Given the description of an element on the screen output the (x, y) to click on. 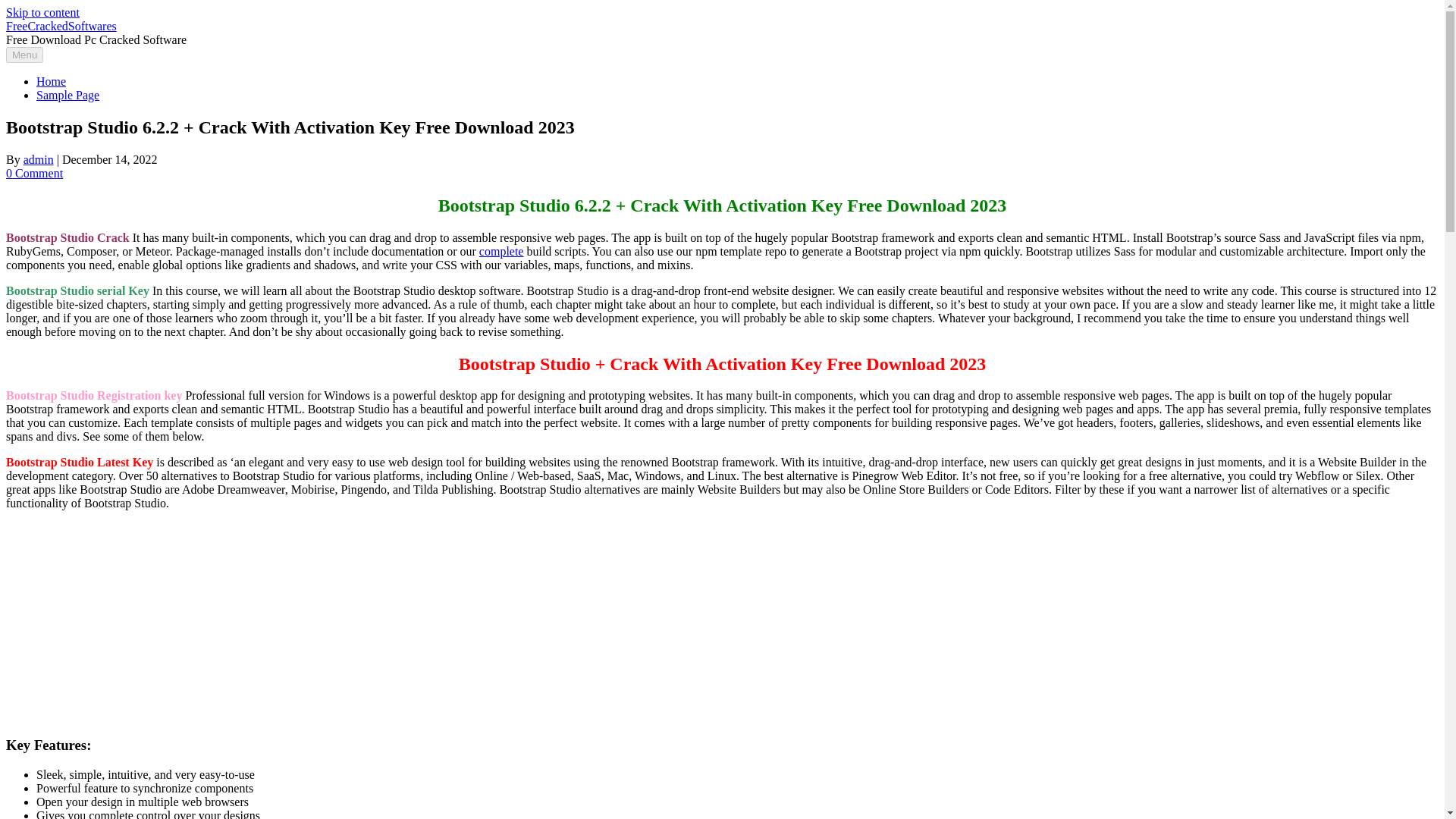
Posts by admin (38, 159)
Skip to content (42, 11)
FreeCrackedSoftwares (60, 25)
Skip to content (42, 11)
admin (38, 159)
complete (501, 250)
Home (50, 81)
0 Comment (33, 173)
Sample Page (67, 94)
Menu (24, 54)
